Given the description of an element on the screen output the (x, y) to click on. 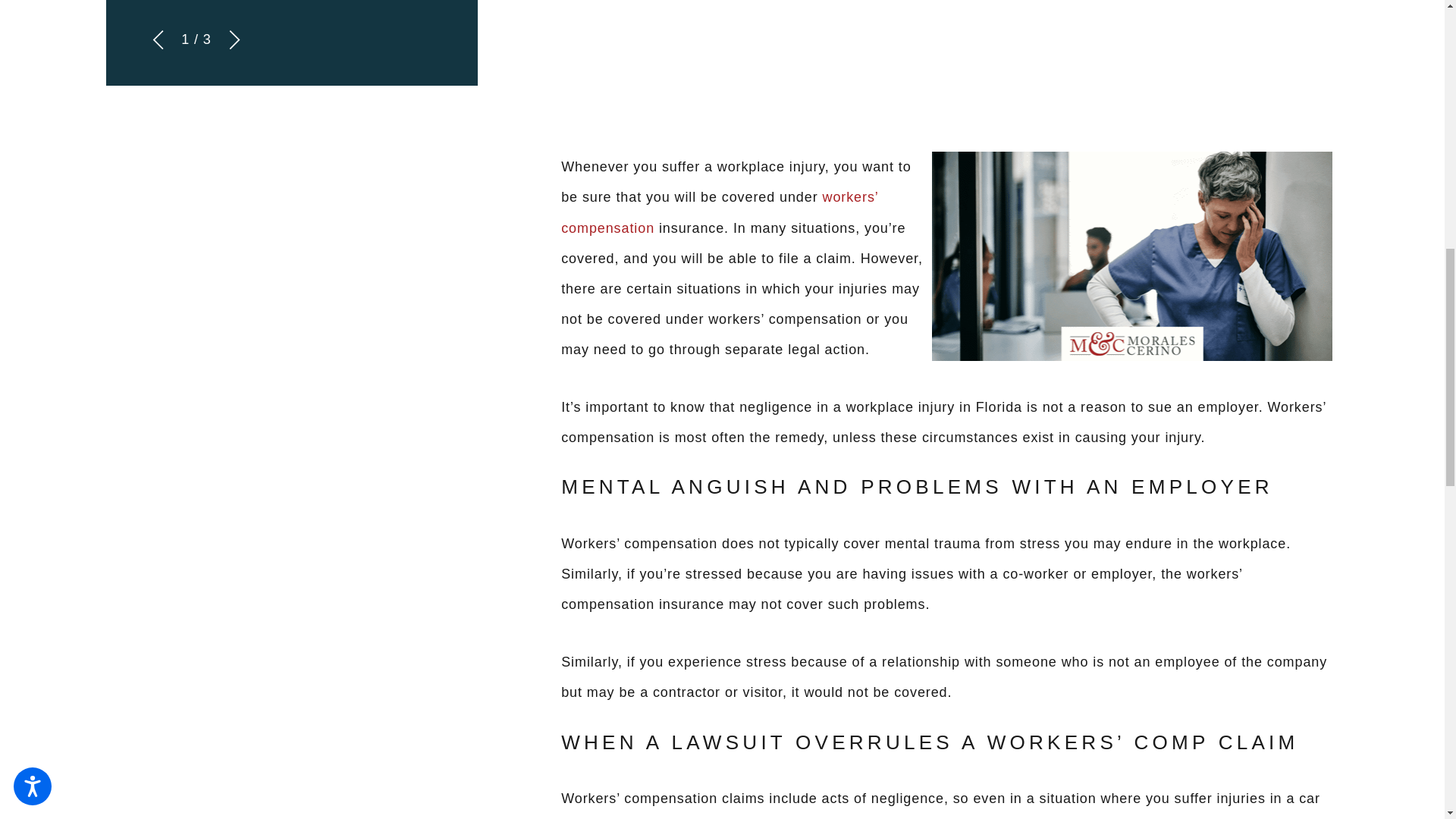
View next item (234, 39)
stressed woman at work in the hospital (1131, 256)
View previous item (157, 39)
